Given the description of an element on the screen output the (x, y) to click on. 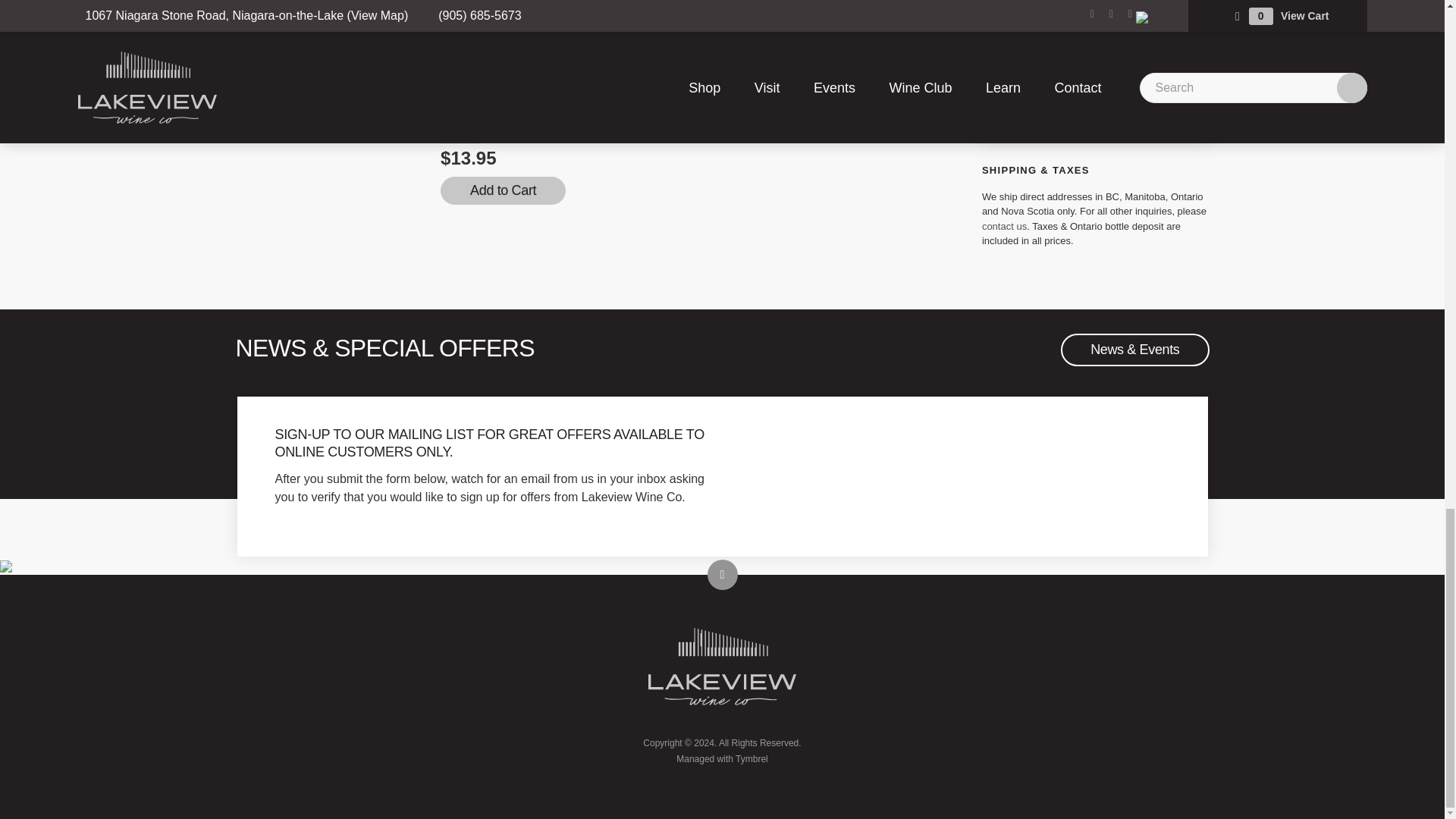
Add to Cart (503, 190)
1 (457, 128)
